Given the description of an element on the screen output the (x, y) to click on. 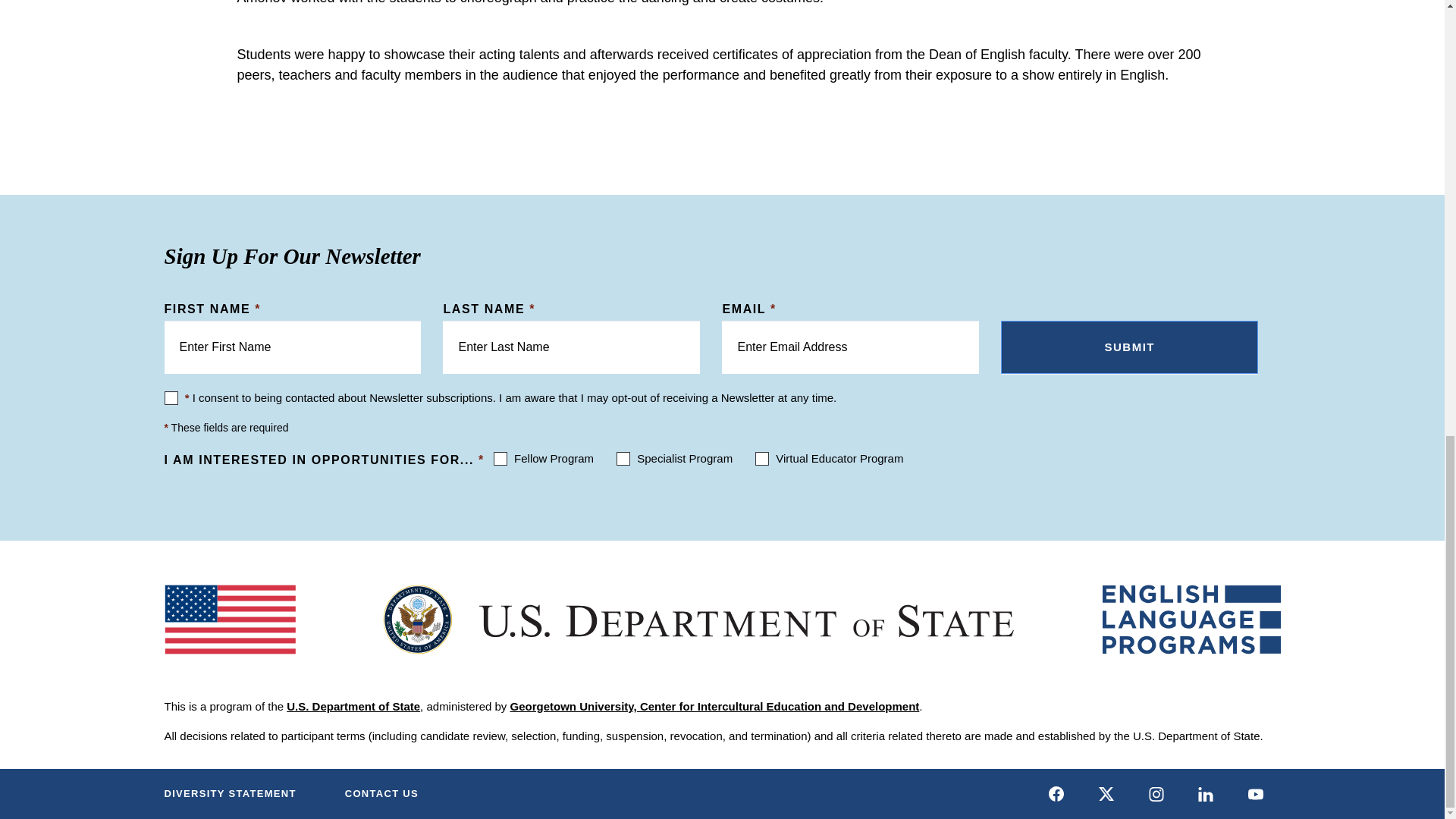
Specialist Program (622, 459)
Virtual Educator Program (761, 459)
Fellow Program (499, 459)
